Given the description of an element on the screen output the (x, y) to click on. 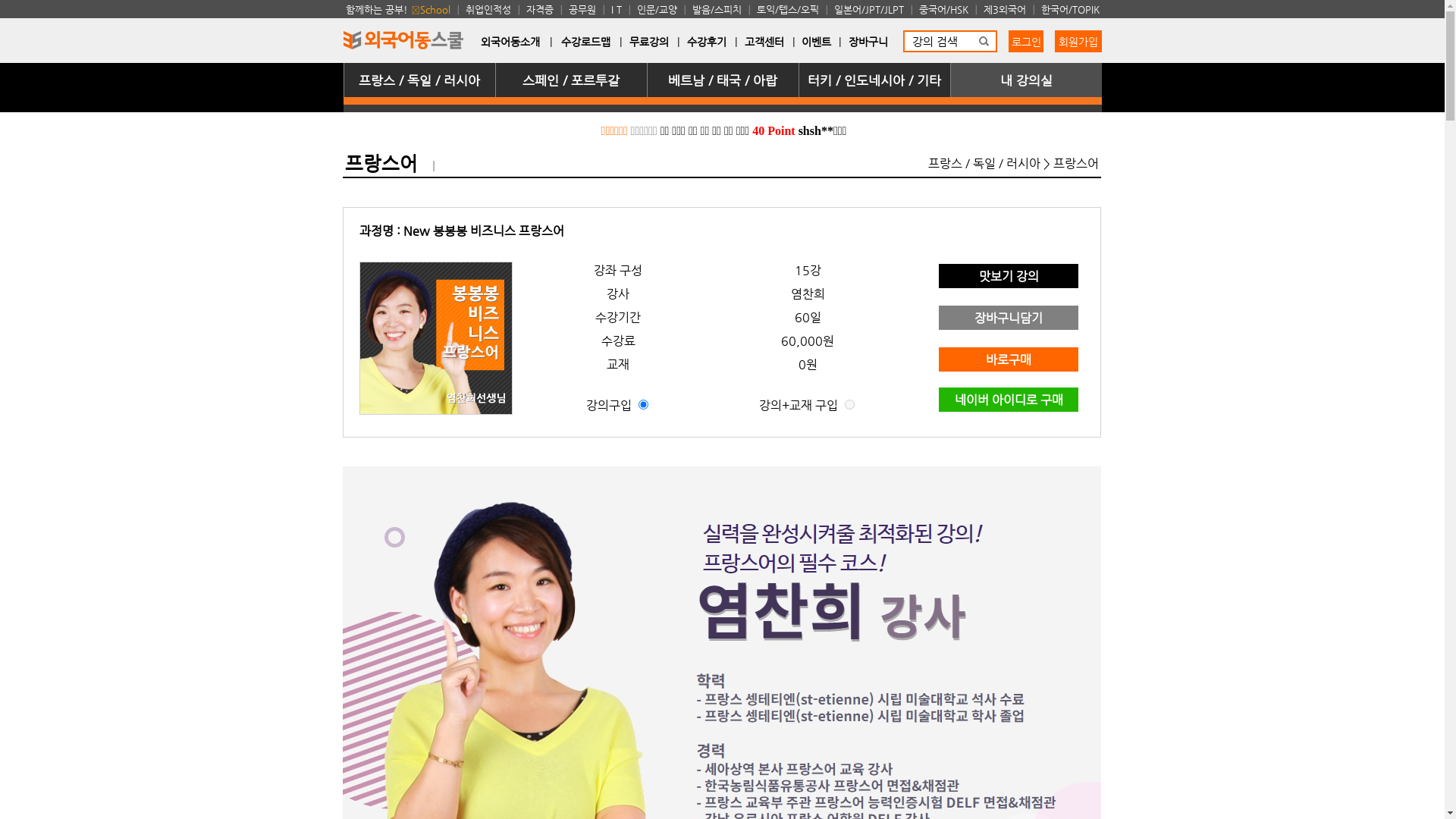
I T Element type: text (617, 8)
on Element type: text (849, 404)
on Element type: text (643, 404)
